Given the description of an element on the screen output the (x, y) to click on. 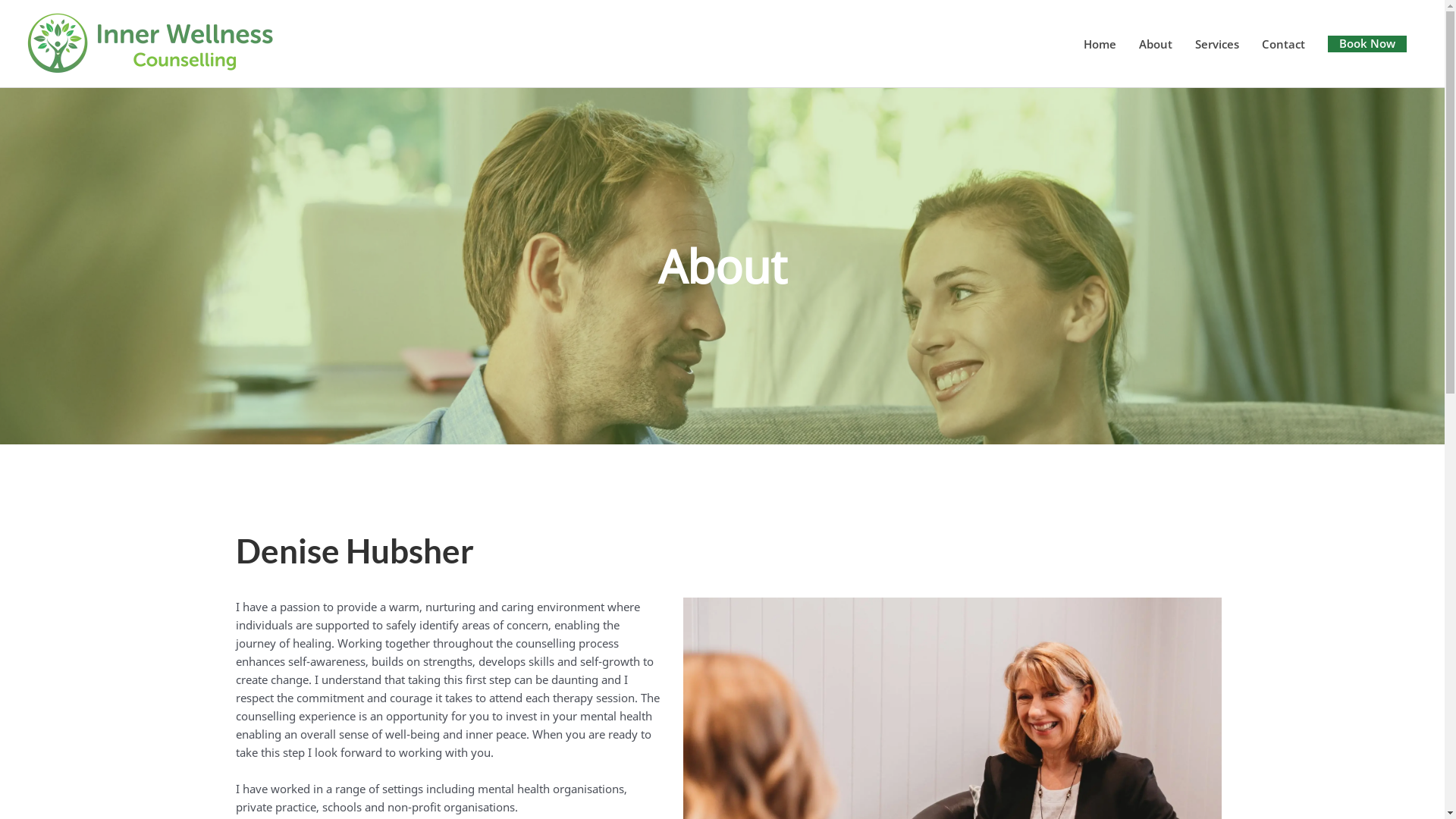
Home Element type: text (1099, 43)
Contact Element type: text (1283, 43)
Book Now Element type: text (1366, 42)
About Element type: text (1155, 43)
Services Element type: text (1216, 43)
